Given the description of an element on the screen output the (x, y) to click on. 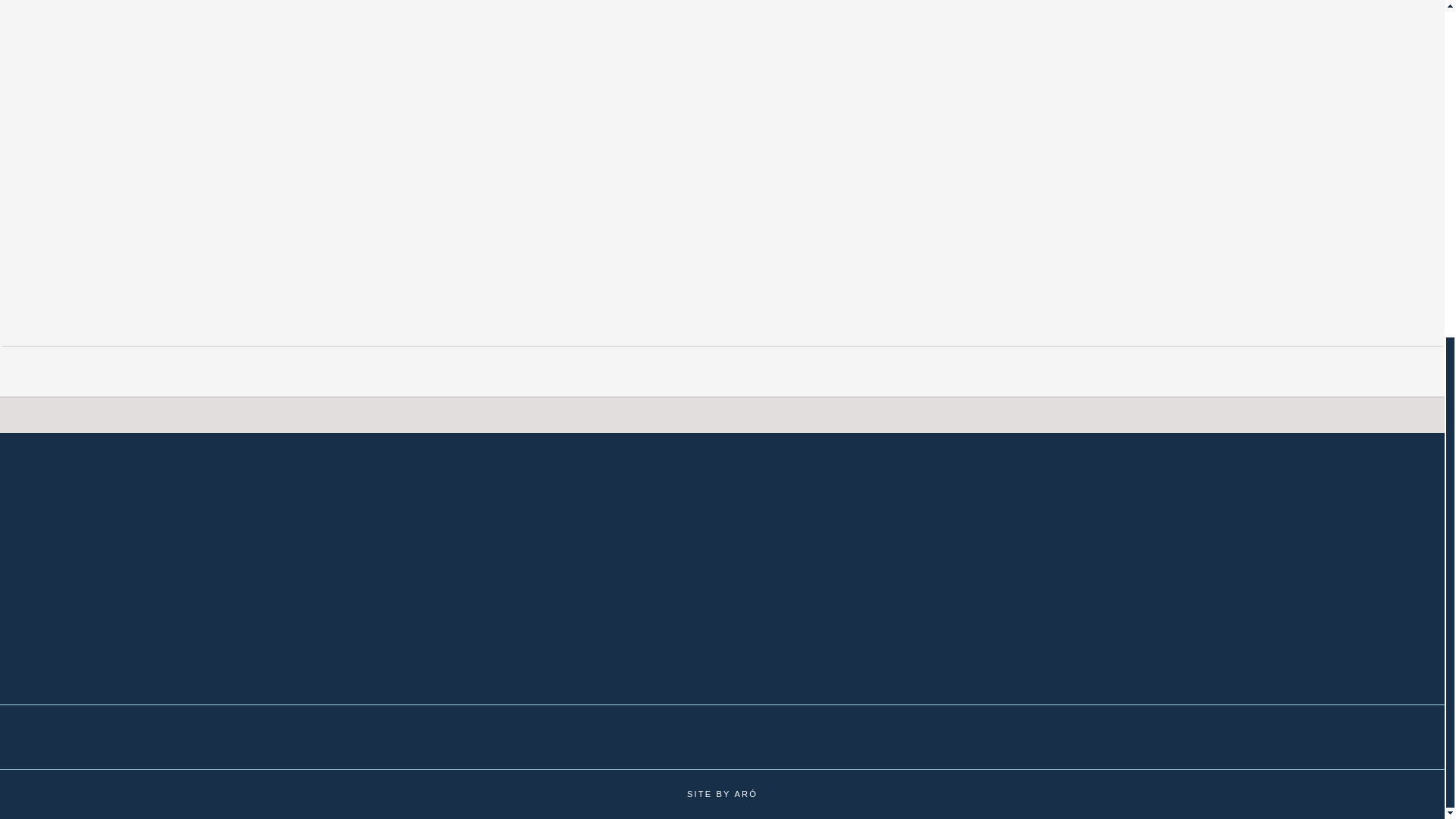
Balcony Suite (121, 9)
Olympic Suite (121, 50)
Olympic Suite (121, 50)
Balcony Suite (121, 9)
Titanic Suite (121, 29)
Beautiful New Bedrooms (121, 71)
Beautiful New Bedrooms (121, 71)
Titanic Suite (121, 29)
